Given the description of an element on the screen output the (x, y) to click on. 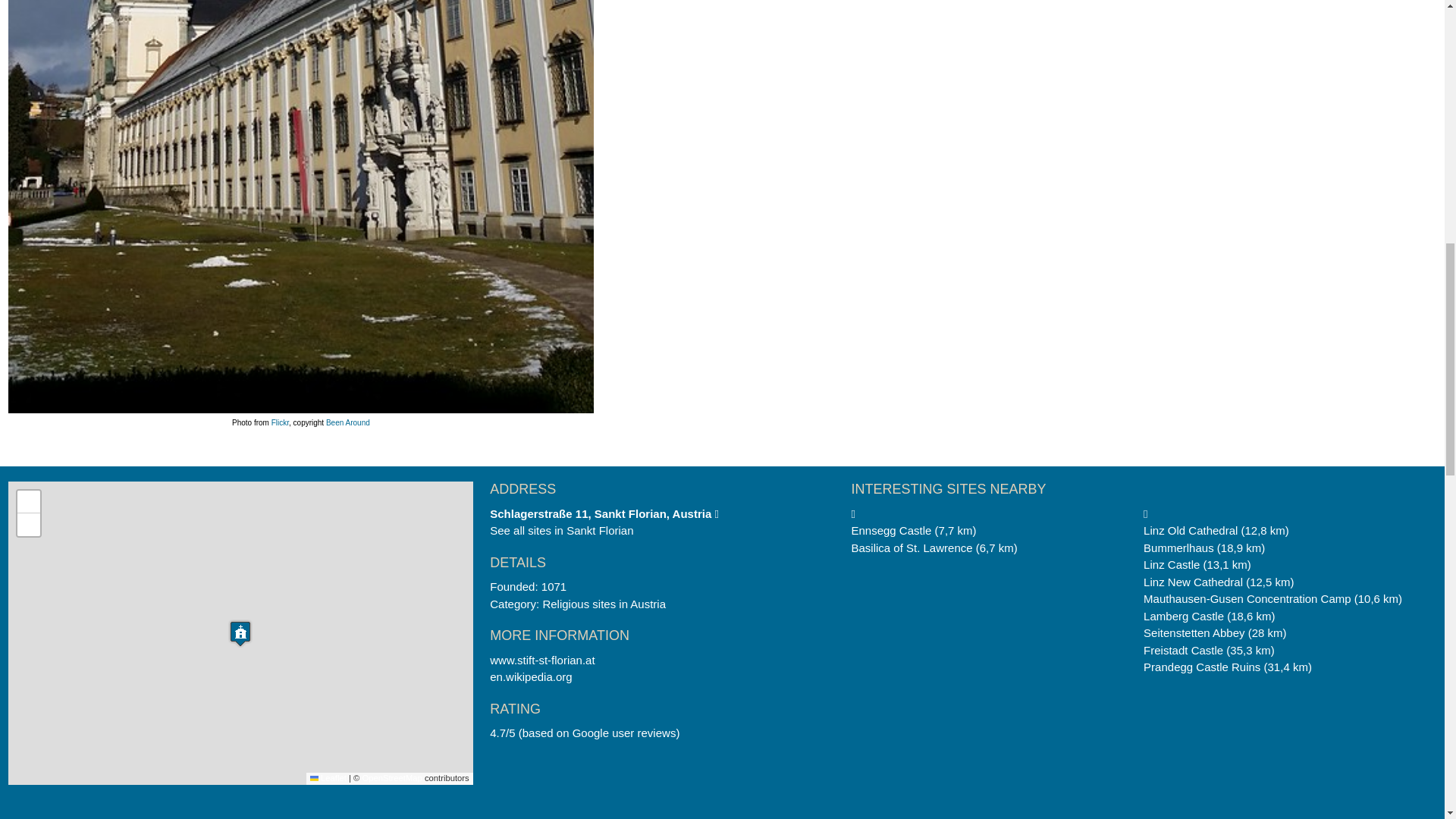
www.stift-st-florian.at (541, 659)
Zoom in (28, 501)
Been Around (347, 422)
A JavaScript library for interactive maps (328, 777)
Zoom out (28, 524)
Flickr (279, 422)
Advertisement (1031, 20)
Sankt Florian (599, 530)
Religious sites in Austria (603, 603)
en.wikipedia.org (530, 676)
Leaflet (328, 777)
OpenStreetMap (391, 777)
